Given the description of an element on the screen output the (x, y) to click on. 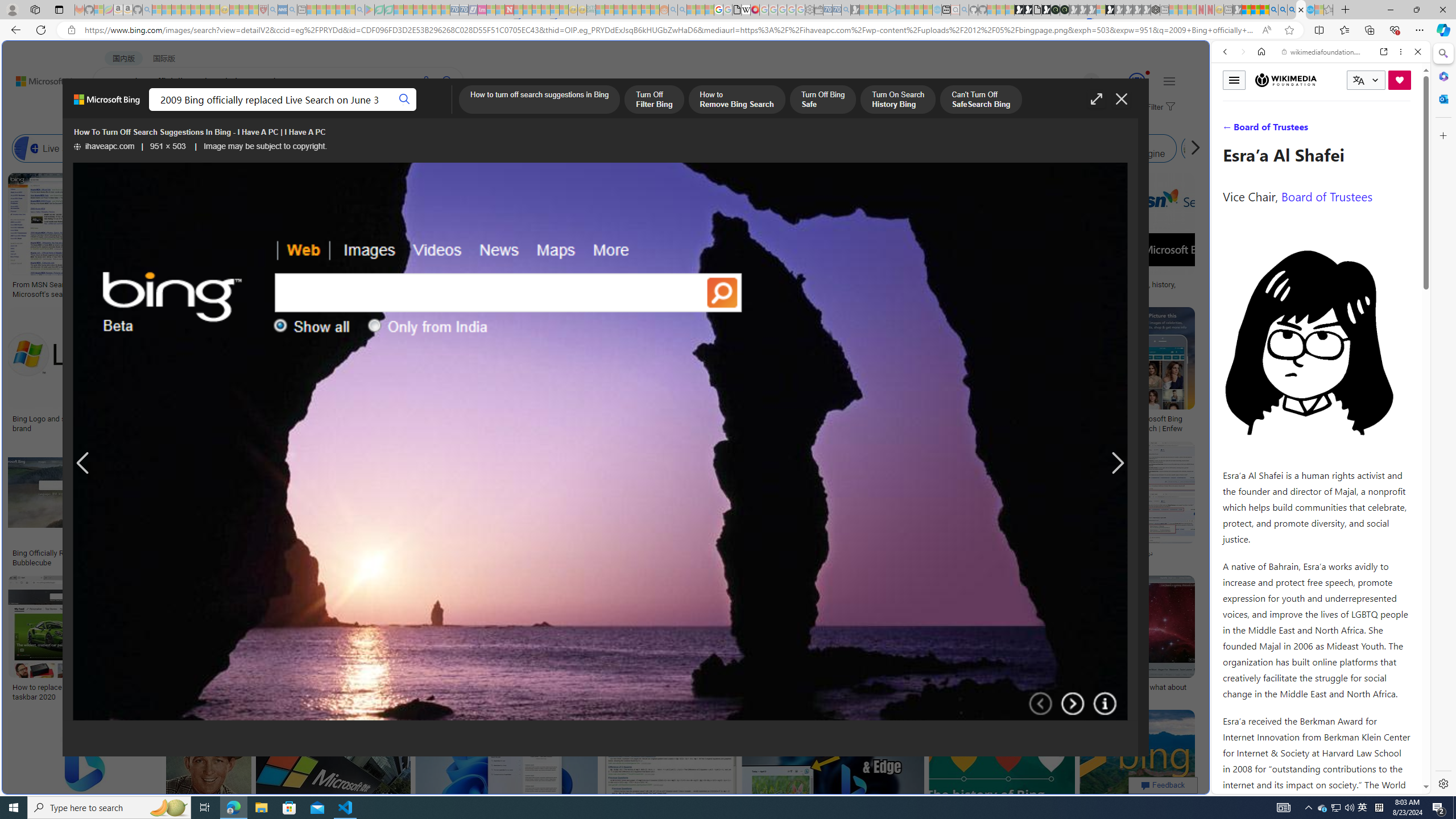
Owner of Bing Search Engine (1115, 148)
Bing Voice Search (121, 148)
Remove the 'News & Interests' bar from Bing | TechLife (857, 419)
Bing - SEOLendSave (280, 505)
Bing Ai Search Engine Powered (536, 148)
